Given the description of an element on the screen output the (x, y) to click on. 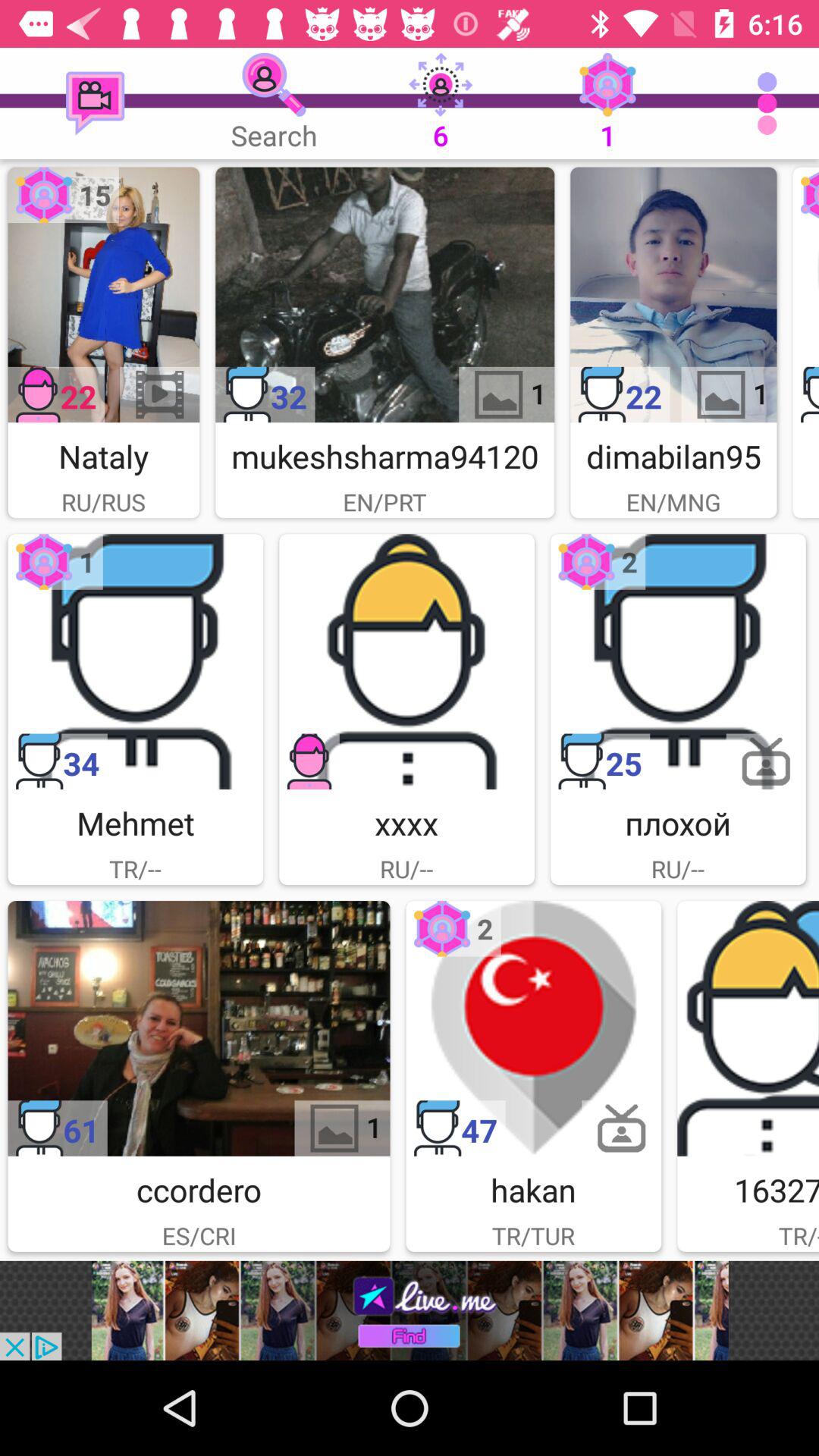
tap to obtain profile information (748, 1028)
